Given the description of an element on the screen output the (x, y) to click on. 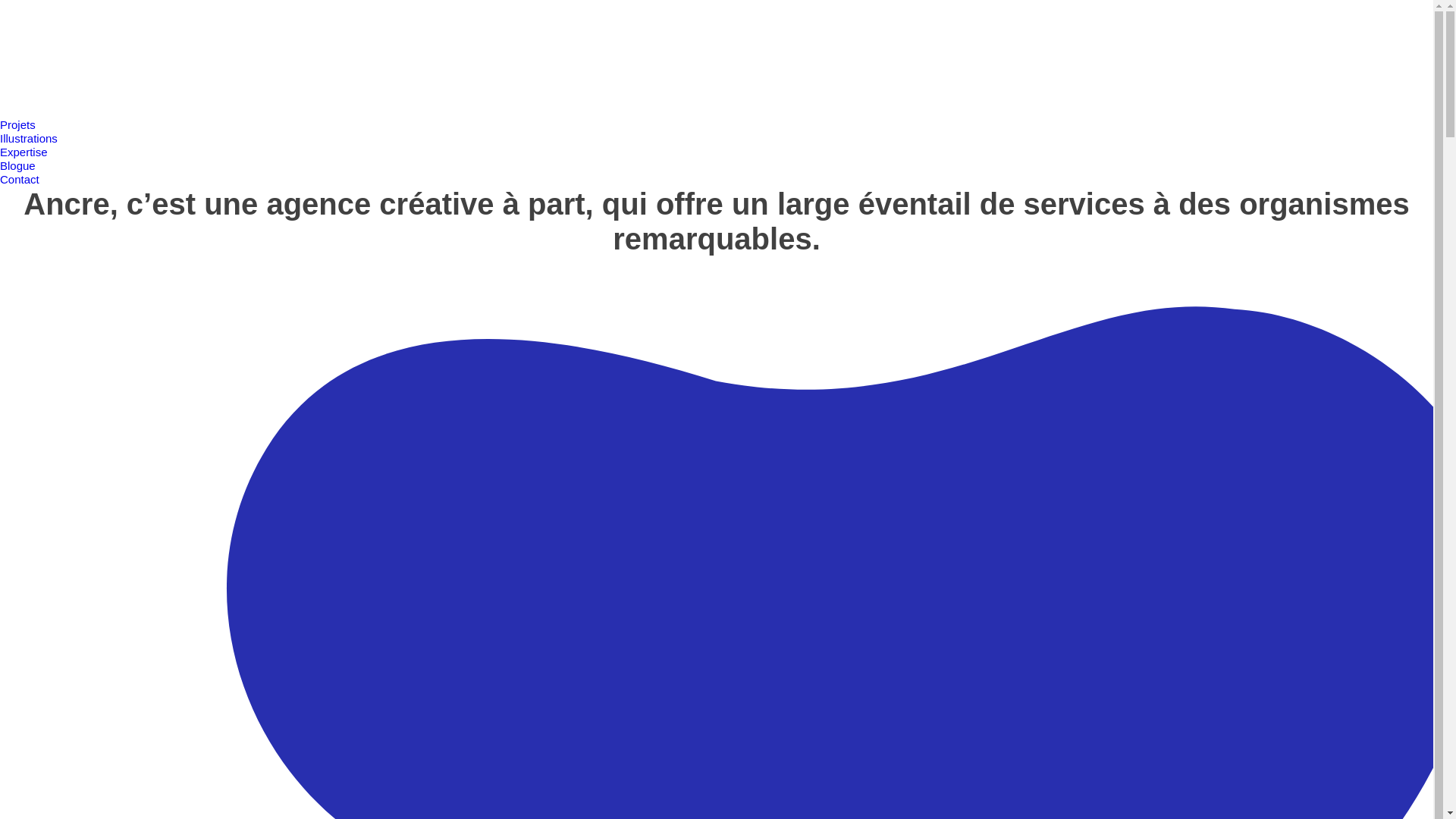
Contact Element type: text (19, 178)
Expertise Element type: text (23, 151)
Blogue Element type: text (17, 165)
Illustrations Element type: text (28, 137)
Projets Element type: text (17, 124)
